Given the description of an element on the screen output the (x, y) to click on. 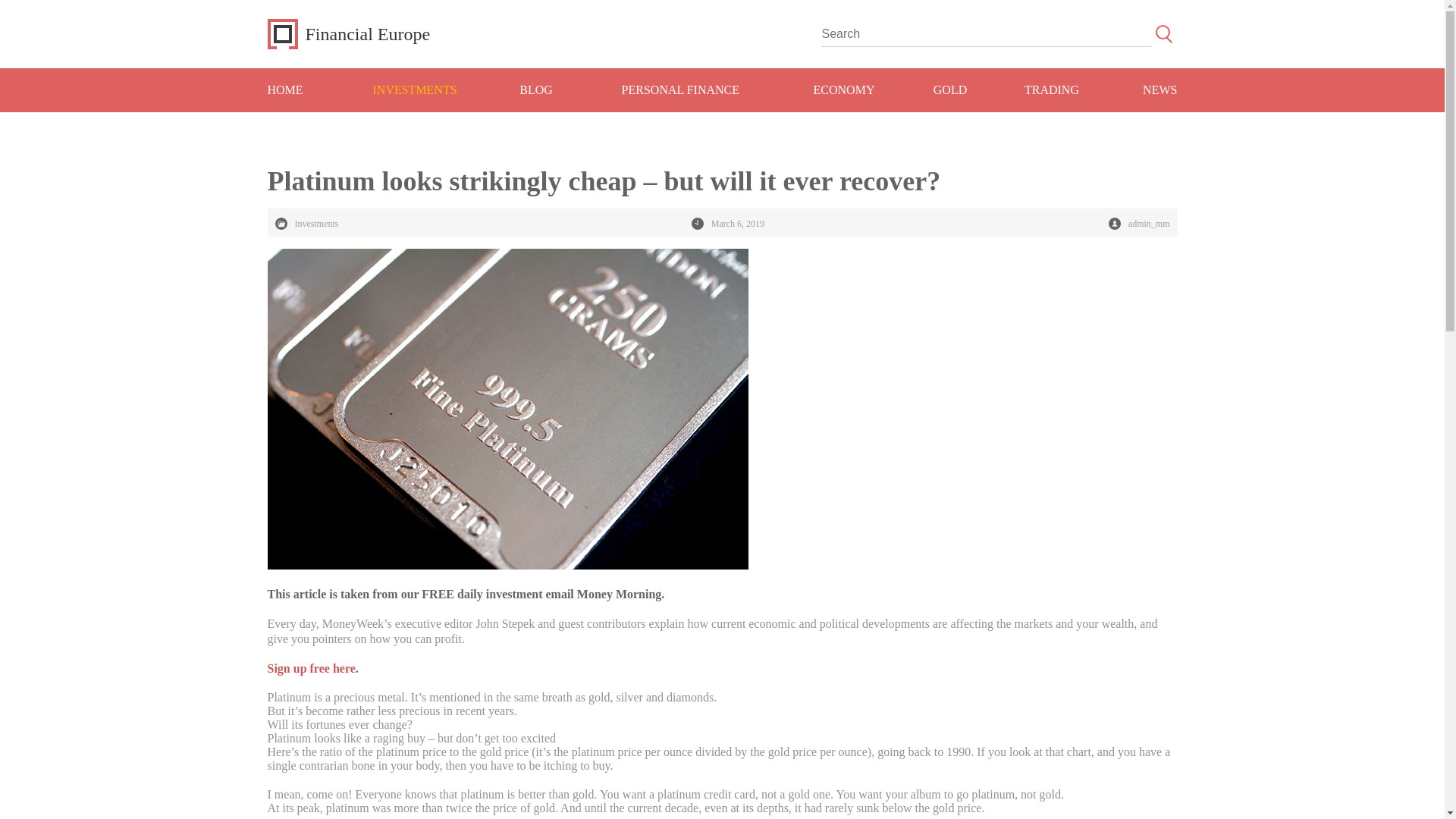
Investments (306, 223)
ECONOMY (844, 89)
HOME (301, 89)
4:01 pm (727, 223)
PERSONAL FINANCE (680, 89)
March 6, 2019 (727, 223)
Financial Europe (347, 33)
TRADING (1051, 89)
NEWS (1142, 89)
BLOG (536, 89)
Search (1163, 33)
INVESTMENTS (414, 89)
Sign up free here (310, 667)
GOLD (948, 89)
